Given the description of an element on the screen output the (x, y) to click on. 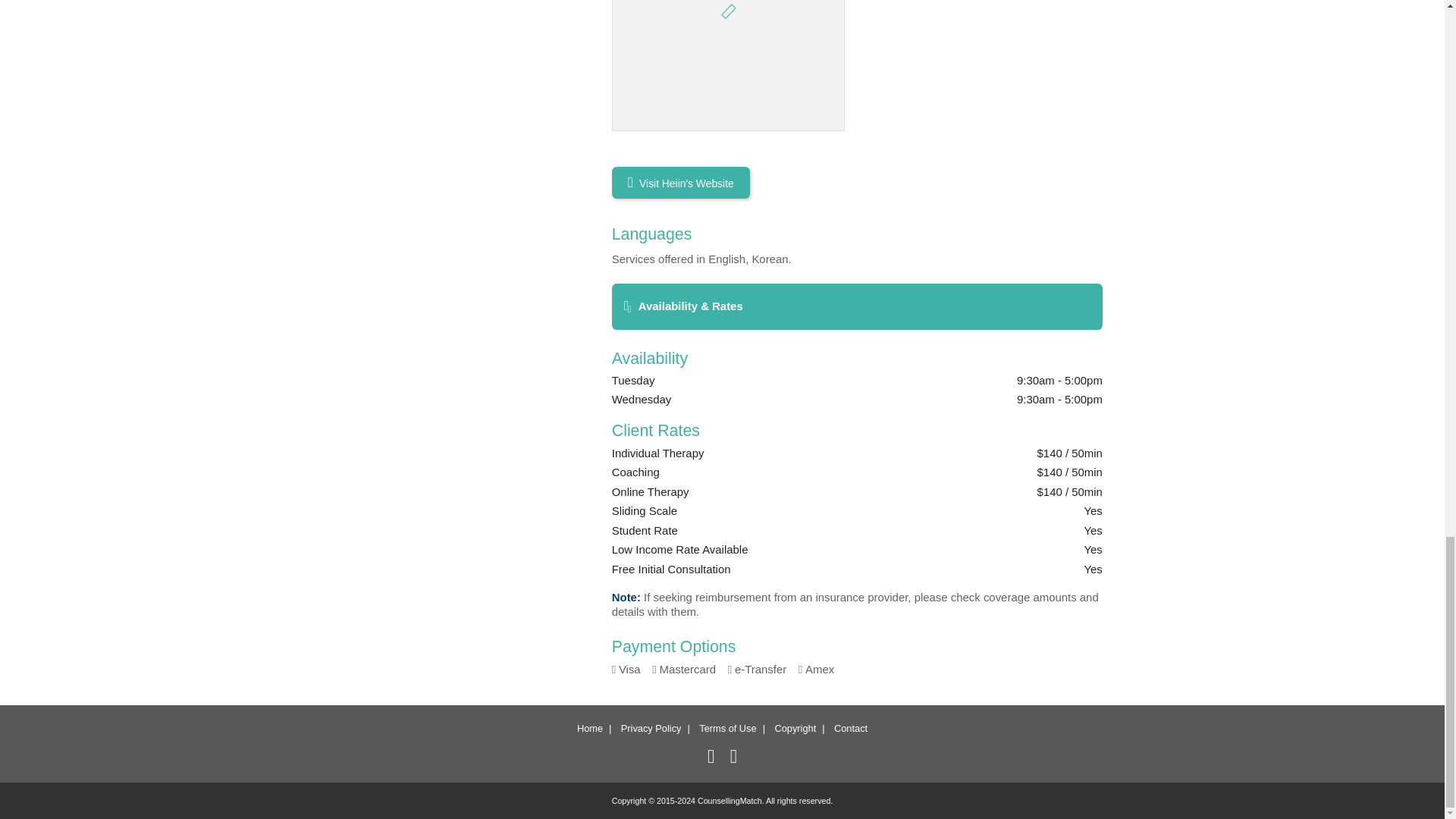
Visit Heiin's Website (680, 183)
Privacy Policy (651, 727)
Terms of Use (726, 727)
Home (589, 727)
CounsellingMatch (729, 800)
Copyright (794, 727)
Contact (850, 727)
